Given the description of an element on the screen output the (x, y) to click on. 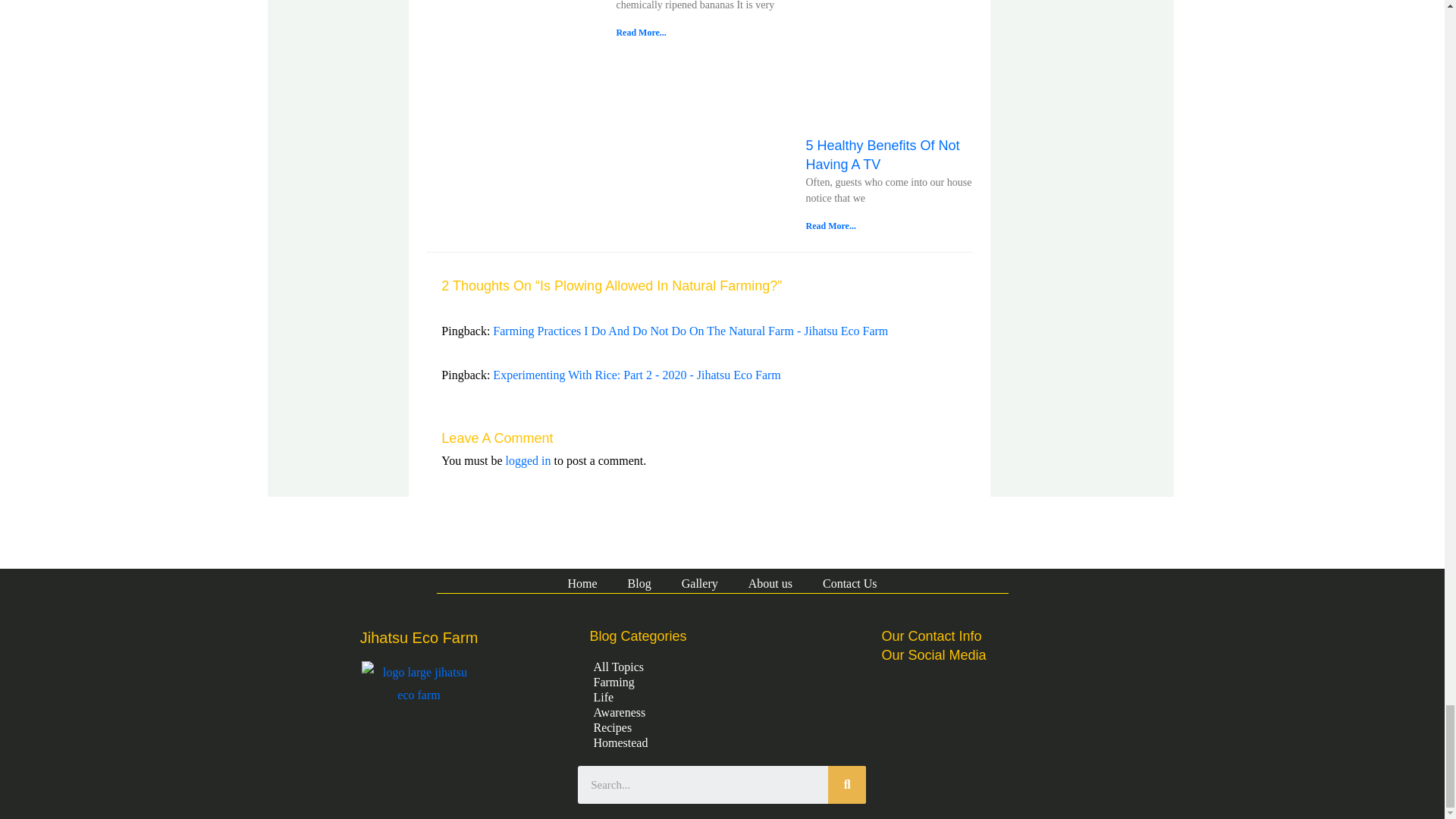
5 Healthy Benefits Of Not Having A TV (882, 154)
Read More... (830, 225)
logged in (528, 460)
Search (847, 784)
Read More... (640, 32)
Search (703, 784)
Experimenting With Rice: Part 2 - 2020 - Jihatsu Eco Farm (636, 374)
